Given the description of an element on the screen output the (x, y) to click on. 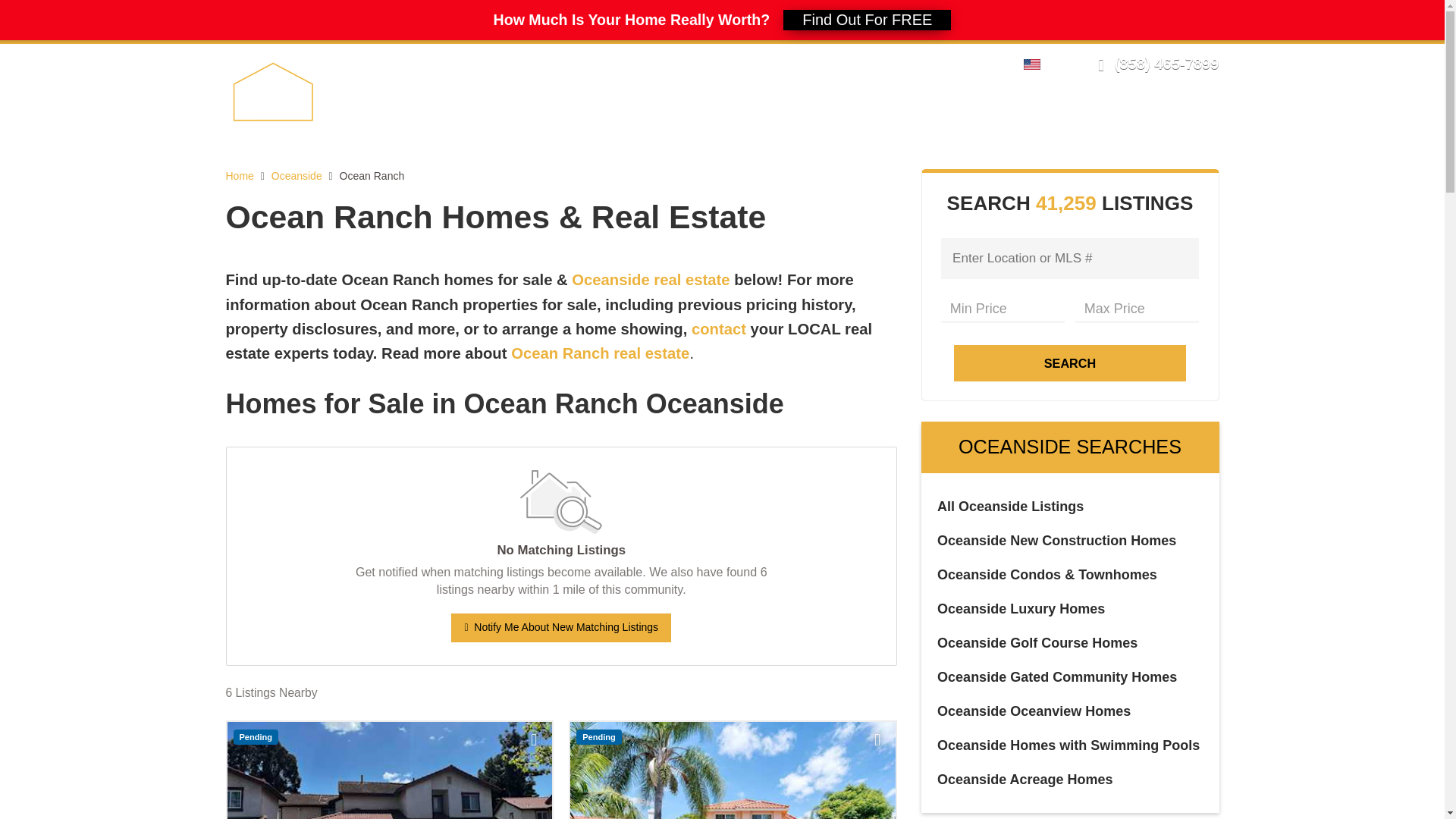
Browse Communities (795, 118)
Sell (633, 118)
Buy (685, 118)
Login (900, 63)
Register (948, 63)
Home Page (307, 90)
Select Language (1035, 63)
